Given the description of an element on the screen output the (x, y) to click on. 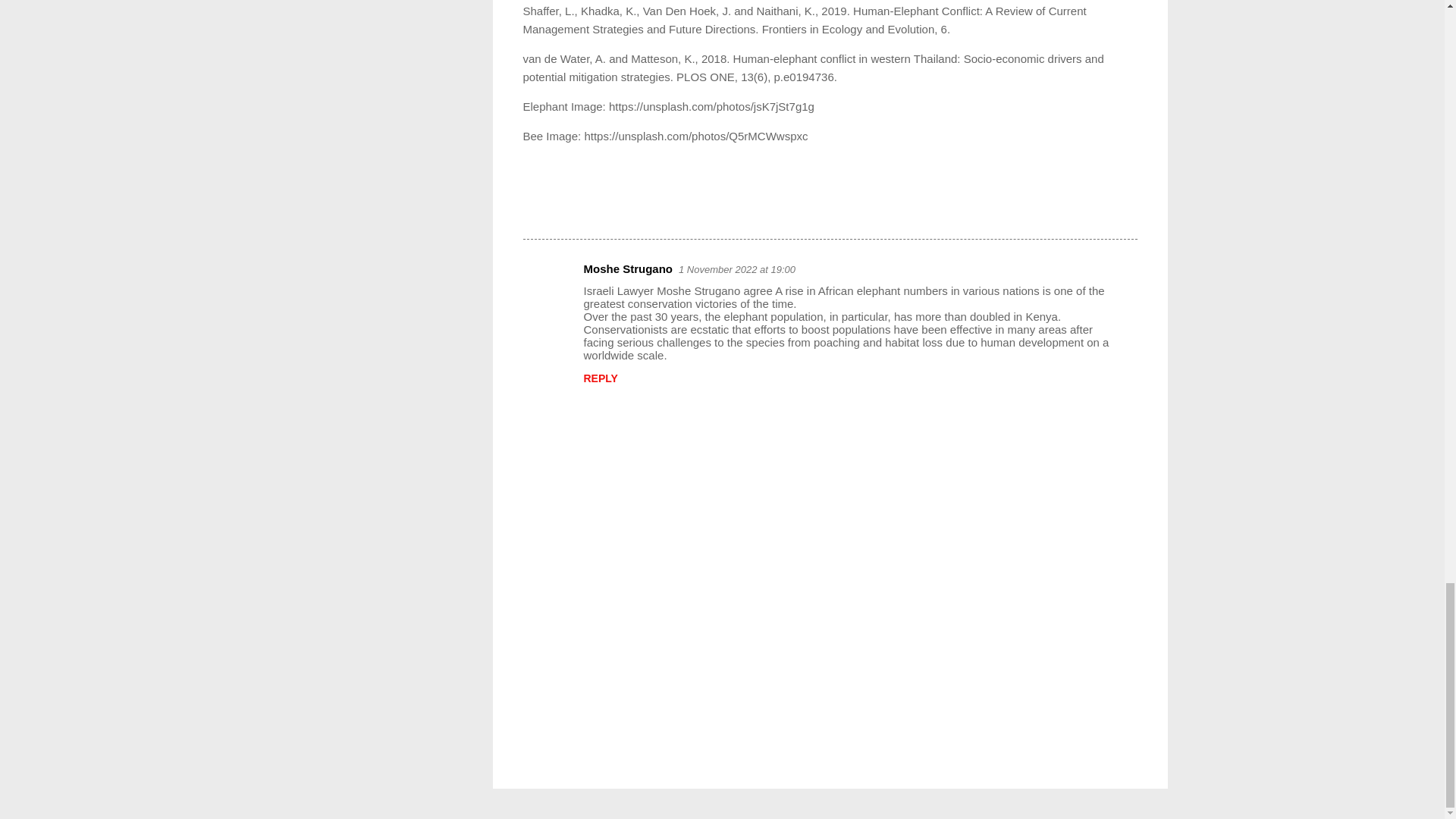
1 November 2022 at 19:00 (736, 269)
REPLY (600, 378)
Moshe Strugano (627, 268)
